Given the description of an element on the screen output the (x, y) to click on. 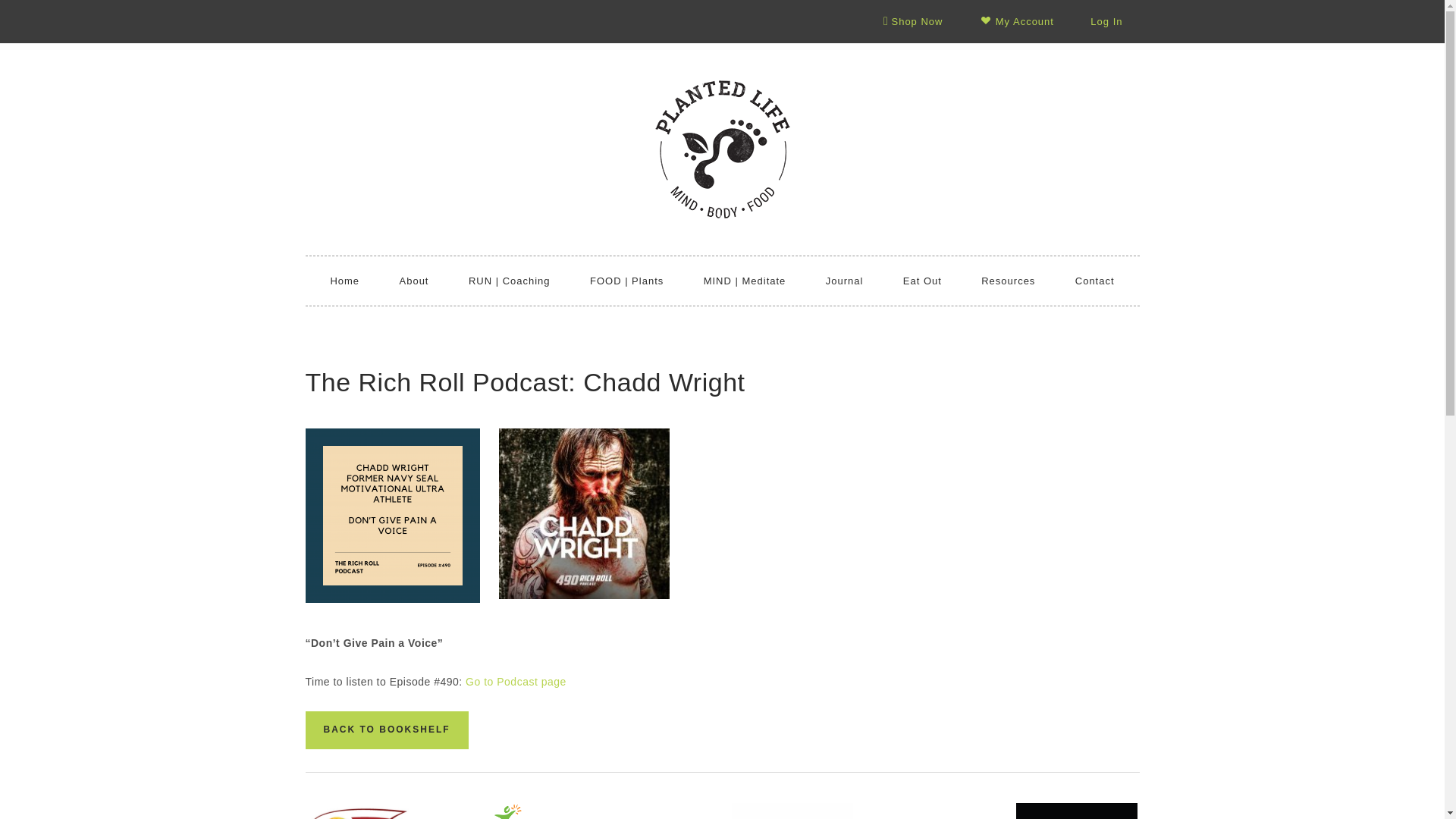
BACK TO BOOKSHELF (385, 728)
Planted Life (721, 149)
About (414, 280)
Log In (1106, 21)
Eat Out (922, 280)
Shop Now (912, 21)
Contact (1094, 280)
Home (344, 280)
My Account (1016, 21)
Resources (1007, 280)
Journal (844, 280)
Go to Podcast page (515, 681)
